Given the description of an element on the screen output the (x, y) to click on. 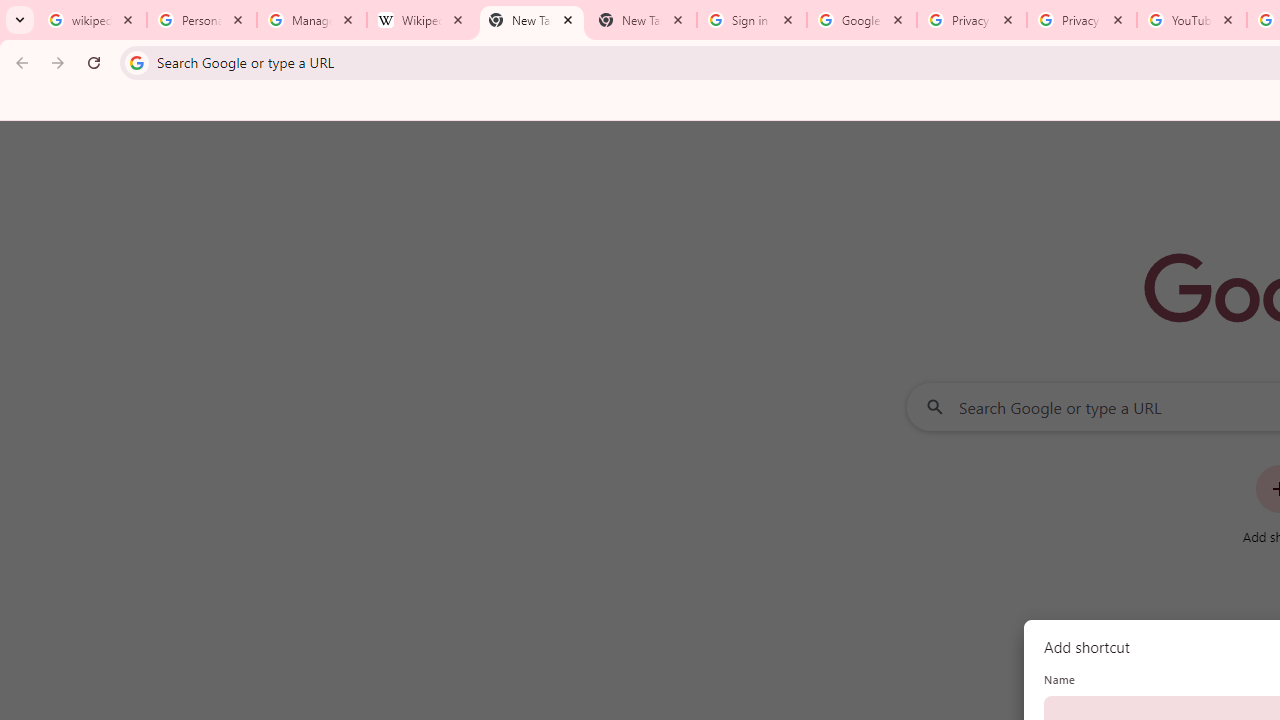
Personalization & Google Search results - Google Search Help (202, 20)
YouTube (1191, 20)
New Tab (642, 20)
Sign in - Google Accounts (752, 20)
Google Drive: Sign-in (861, 20)
Wikipedia:Edit requests - Wikipedia (422, 20)
Manage your Location History - Google Search Help (312, 20)
